Given the description of an element on the screen output the (x, y) to click on. 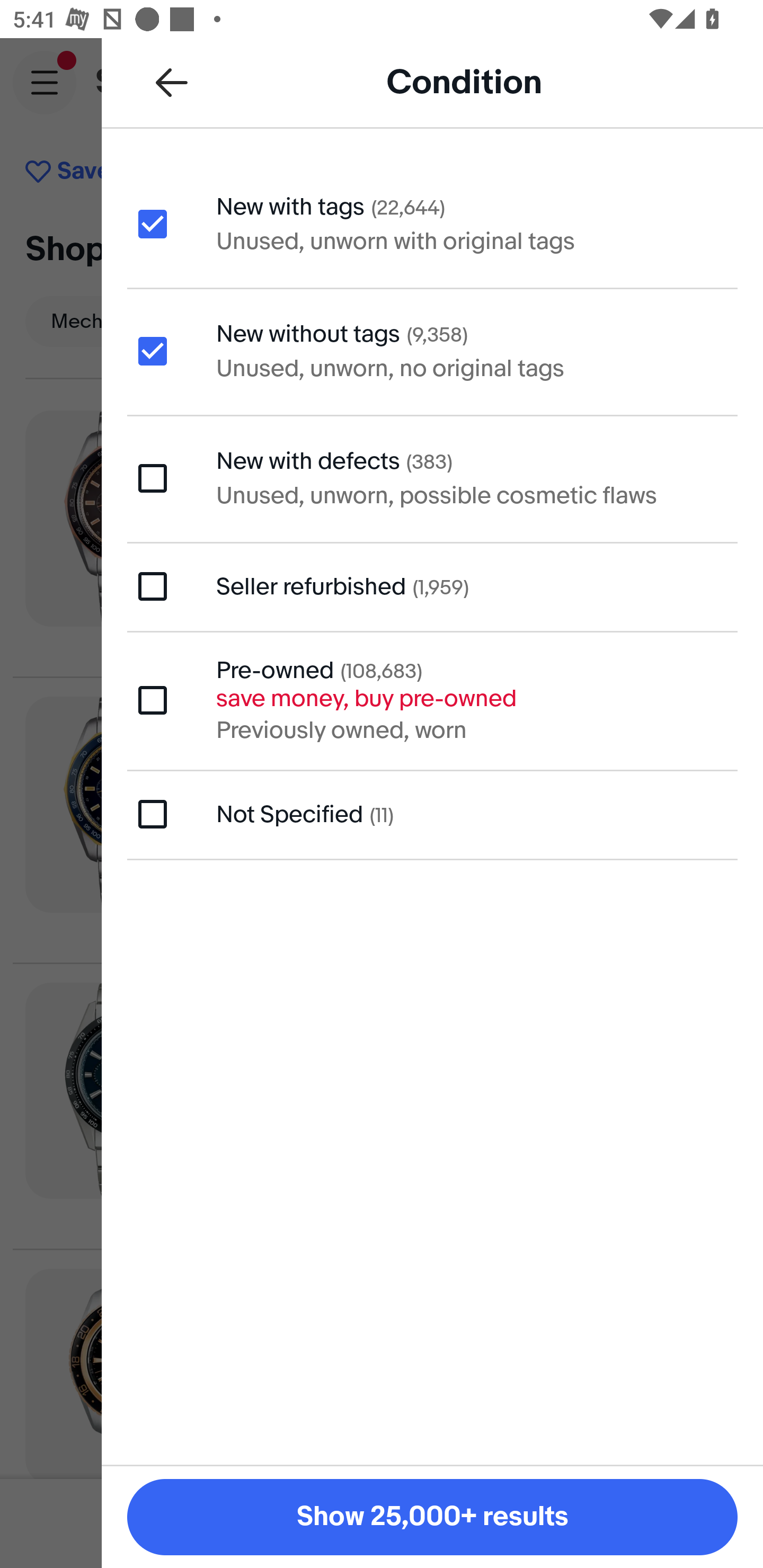
Back to all refinements (171, 81)
Seller refurbished (1,959) (432, 586)
Not Specified (11) (432, 814)
Show 25,000+ results (432, 1516)
